Given the description of an element on the screen output the (x, y) to click on. 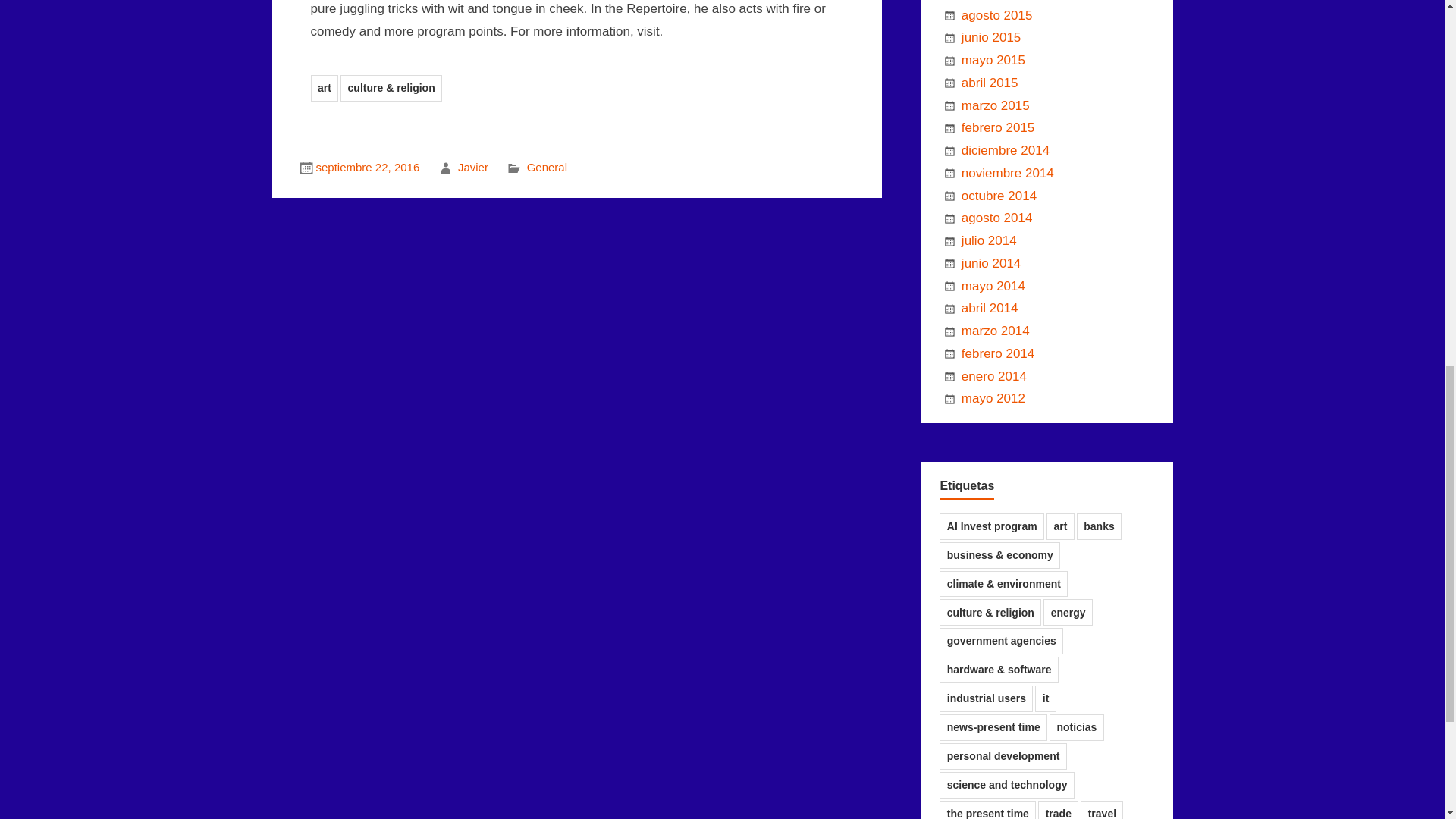
septiembre 22, 2016 (367, 166)
View all posts by Javier (472, 166)
febrero 2015 (996, 127)
agosto 2015 (996, 15)
abril 2015 (988, 83)
junio 2015 (990, 37)
mayo 2015 (992, 60)
marzo 2015 (994, 105)
art (325, 88)
Javier (472, 166)
